Given the description of an element on the screen output the (x, y) to click on. 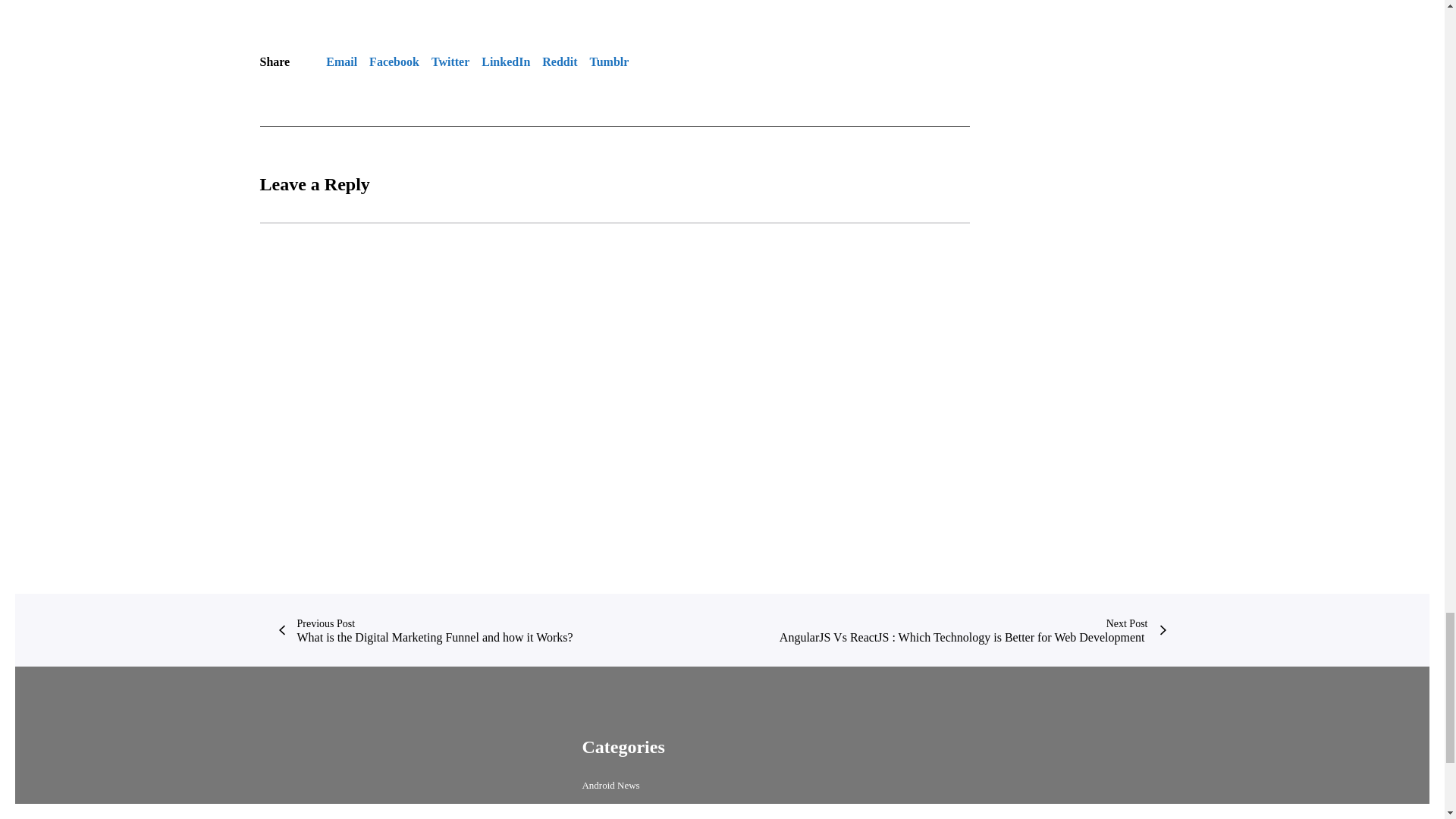
Reddit (558, 61)
Twitter (449, 61)
Benefits Artificial Intelligence (331, 4)
Tumblr (608, 61)
Benefits of AI for eLearning Systems (501, 4)
Facebook (394, 61)
Email (341, 61)
LinkedIn (505, 61)
